Given the description of an element on the screen output the (x, y) to click on. 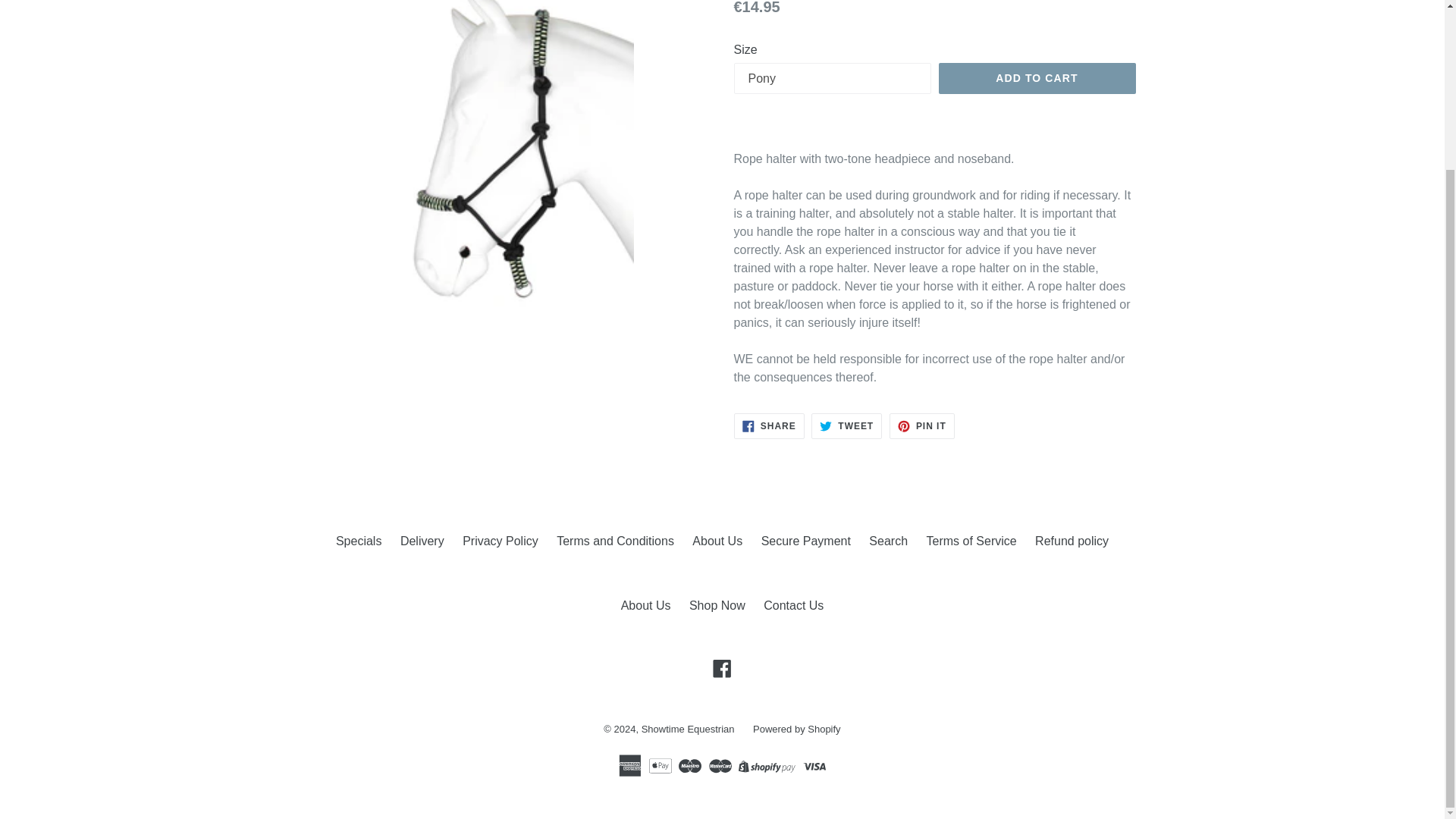
Share on Facebook (769, 425)
Pin on Pinterest (922, 425)
Tweet on Twitter (846, 425)
Showtime Equestrian on Facebook (721, 668)
